Given the description of an element on the screen output the (x, y) to click on. 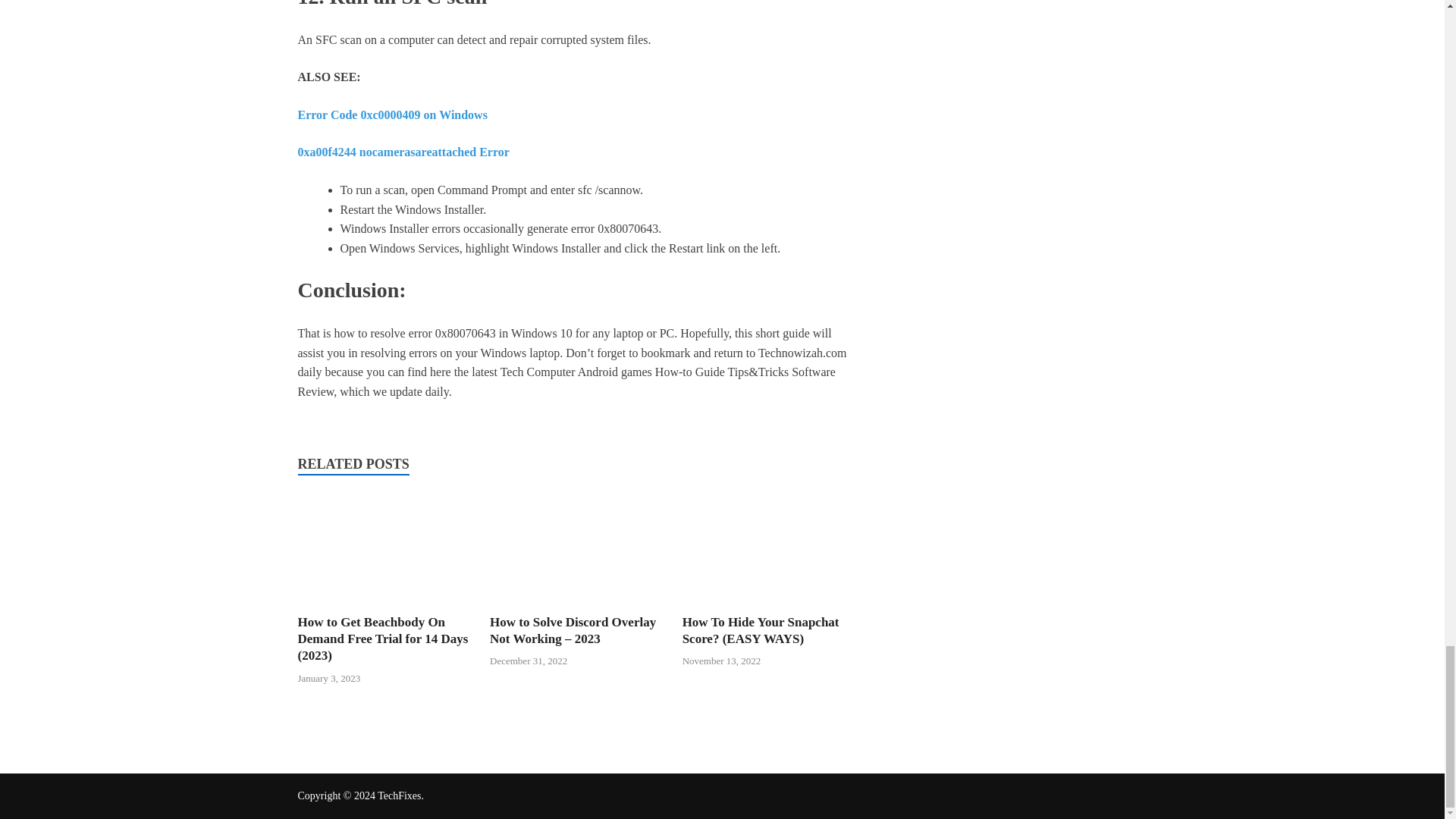
TechFixes (398, 795)
Error Code 0xc0000409 on Windows (391, 114)
0xa00f4244 nocamerasareattached Error (402, 151)
